Given the description of an element on the screen output the (x, y) to click on. 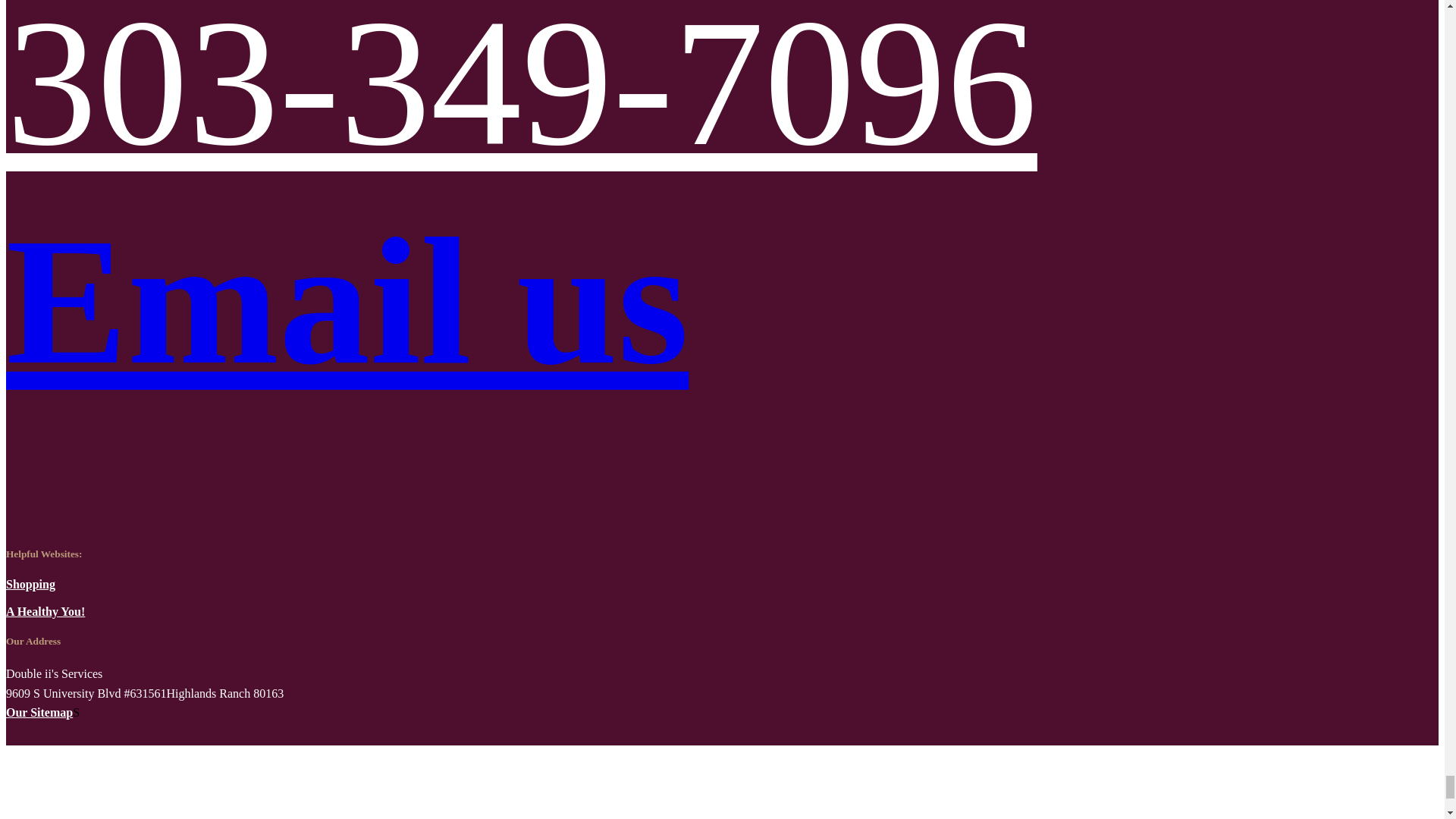
A Healthy You! (44, 611)
Shopping (30, 584)
Our Sitemap (38, 712)
